Given the description of an element on the screen output the (x, y) to click on. 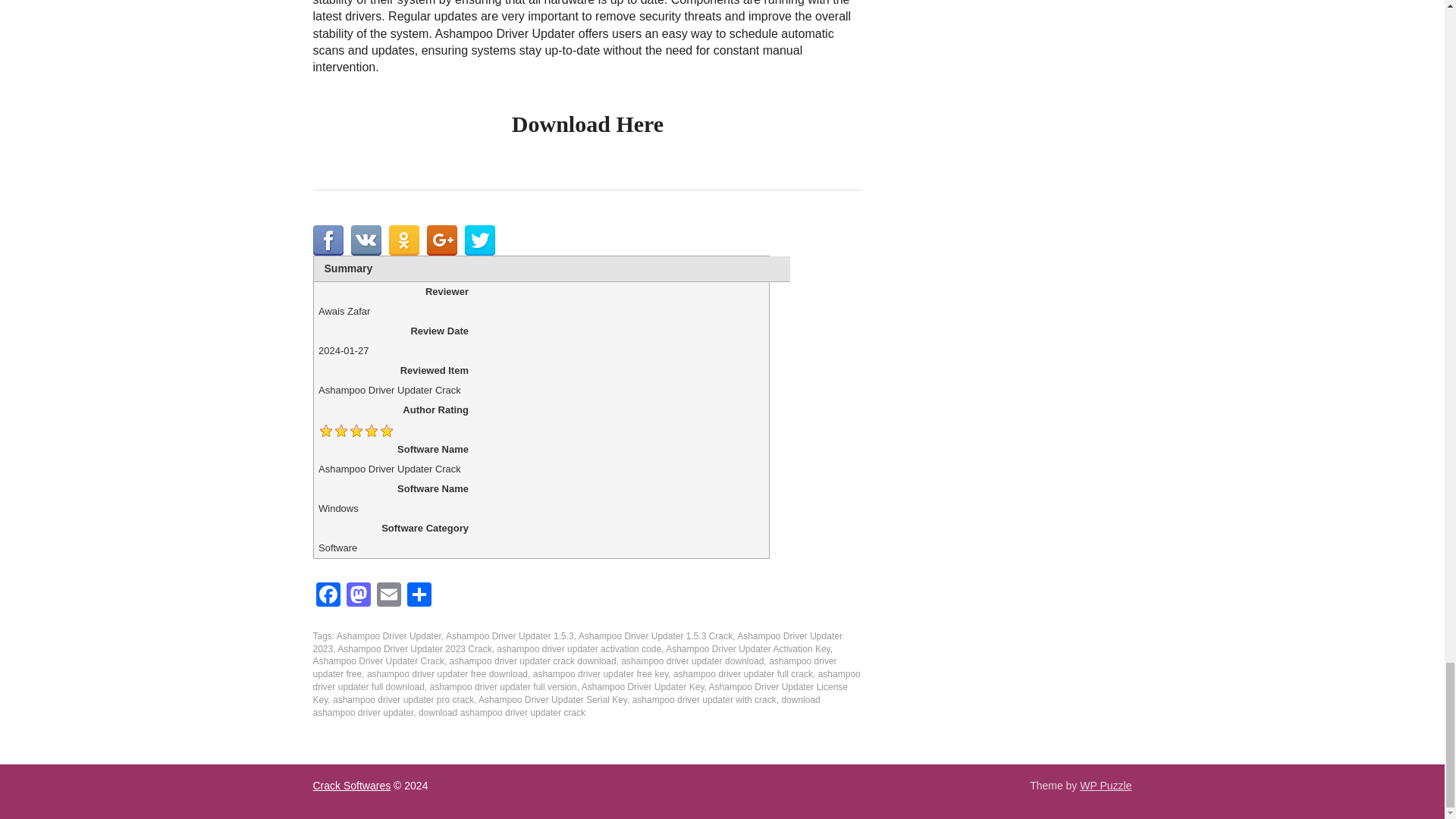
Mastodon (357, 596)
Facebook (327, 596)
Ashampoo Driver Updater (388, 635)
Mastodon (357, 596)
Share in Facebook (327, 240)
Share in Twitter (479, 240)
Download Here (587, 123)
Ashampoo Driver Updater 2023 Crack (414, 648)
Email (387, 596)
Facebook (327, 596)
